Given the description of an element on the screen output the (x, y) to click on. 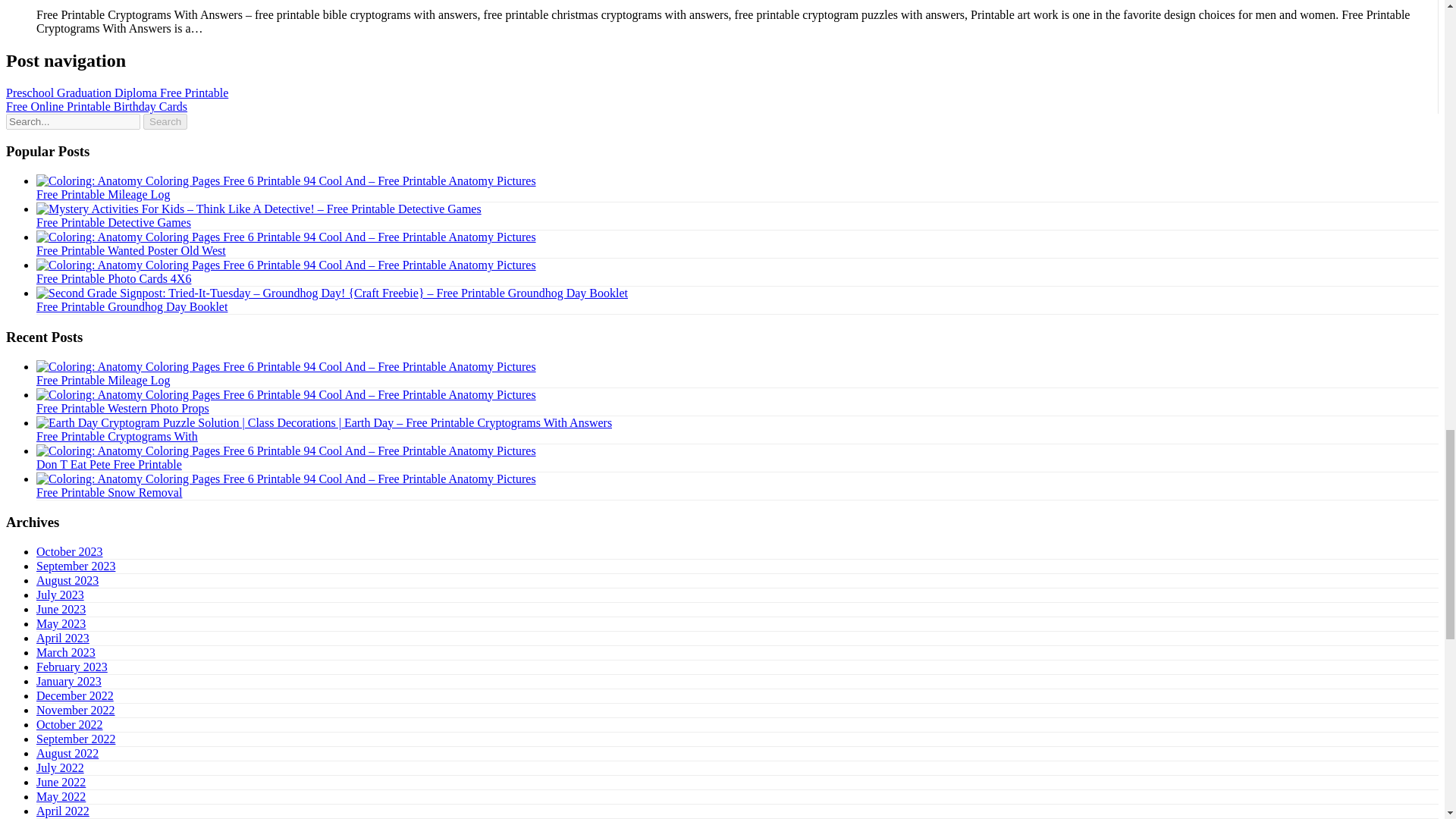
Search (164, 121)
Search (164, 121)
Search (164, 121)
Preschool Graduation Diploma Free Printable (116, 92)
Free Online Printable Birthday Cards (96, 106)
